Given the description of an element on the screen output the (x, y) to click on. 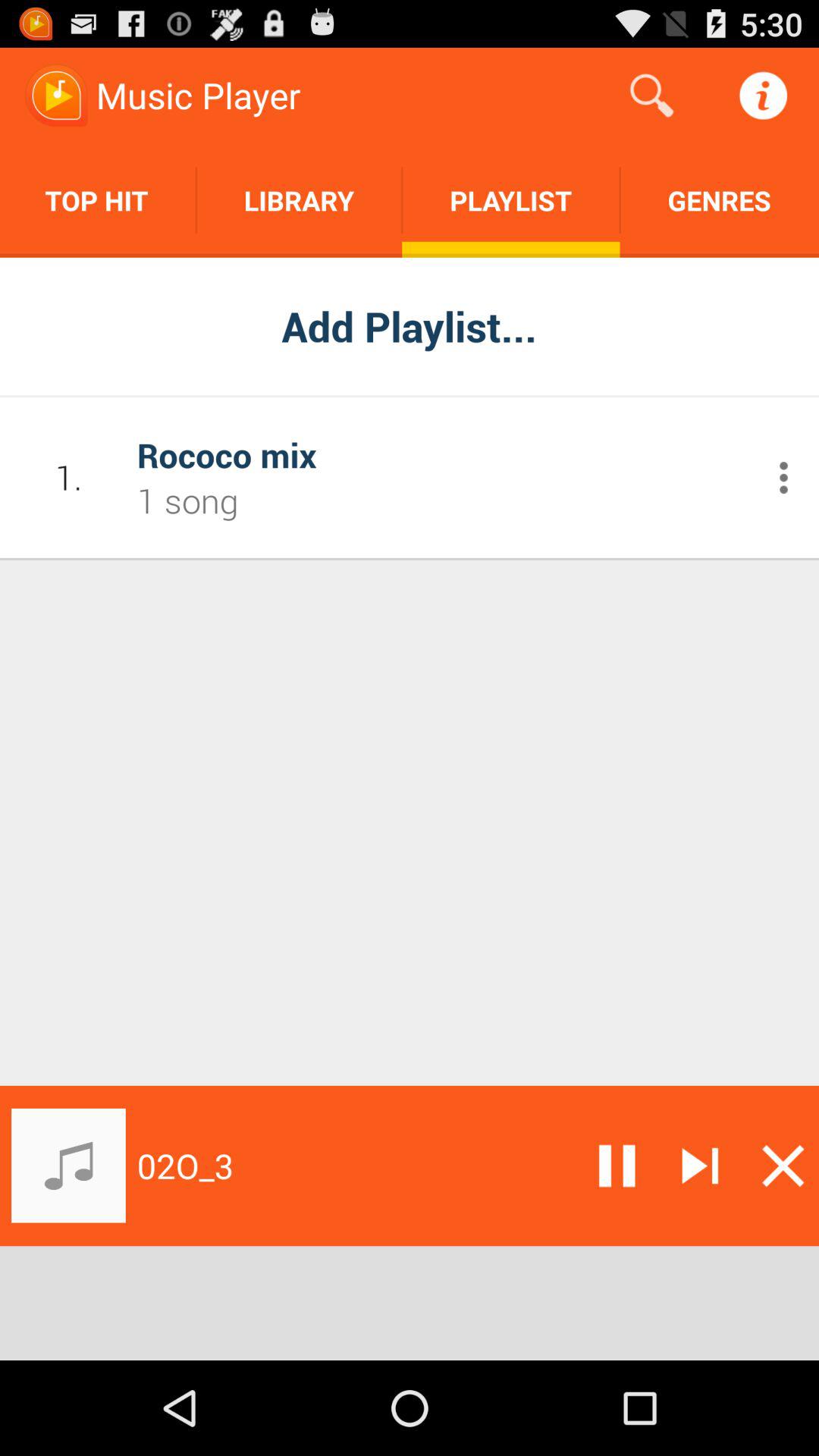
close the track (783, 1165)
